Given the description of an element on the screen output the (x, y) to click on. 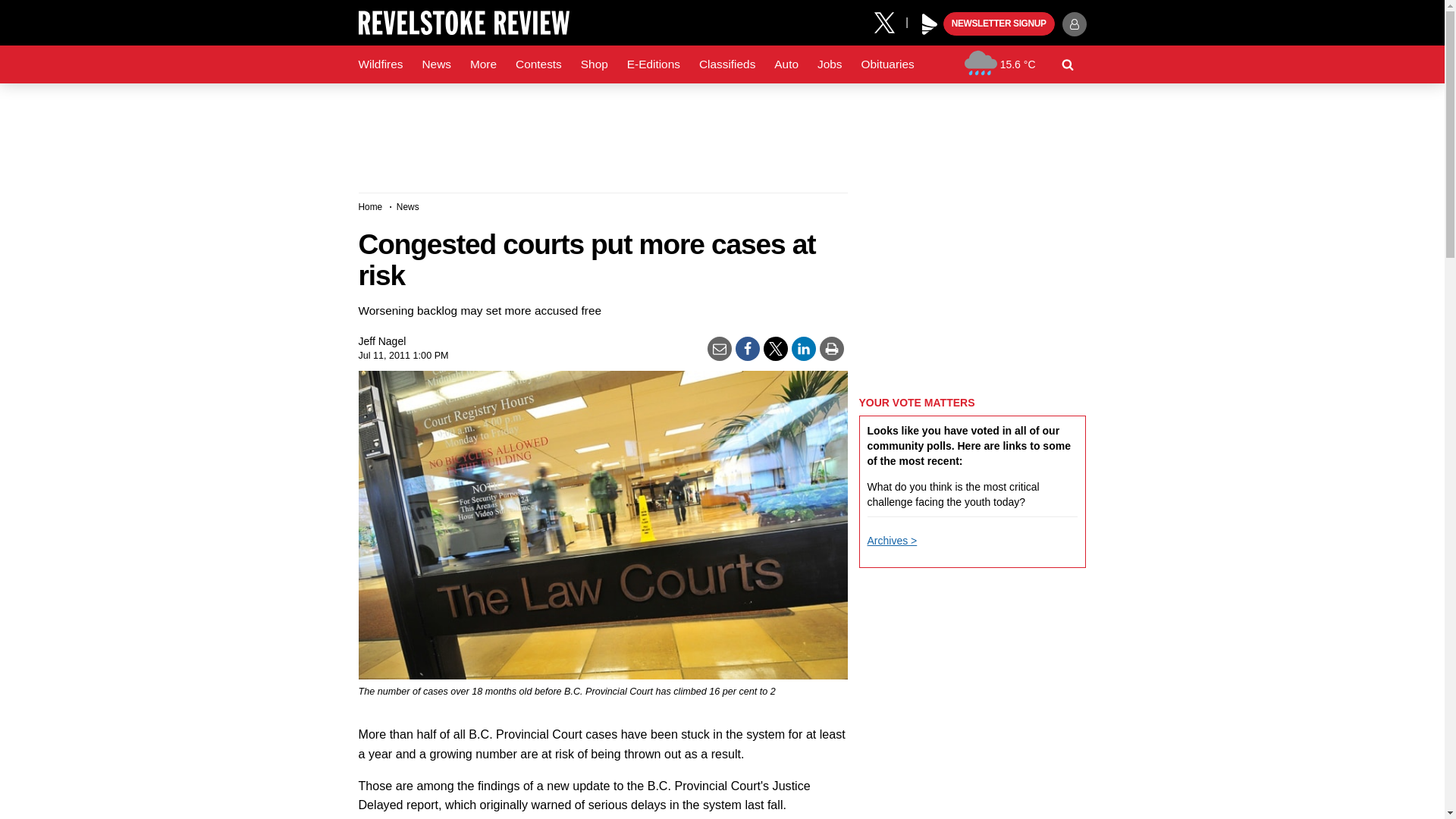
X (889, 21)
Black Press Media (929, 24)
Wildfires (380, 64)
NEWSLETTER SIGNUP (998, 24)
Play (929, 24)
News (435, 64)
